Given the description of an element on the screen output the (x, y) to click on. 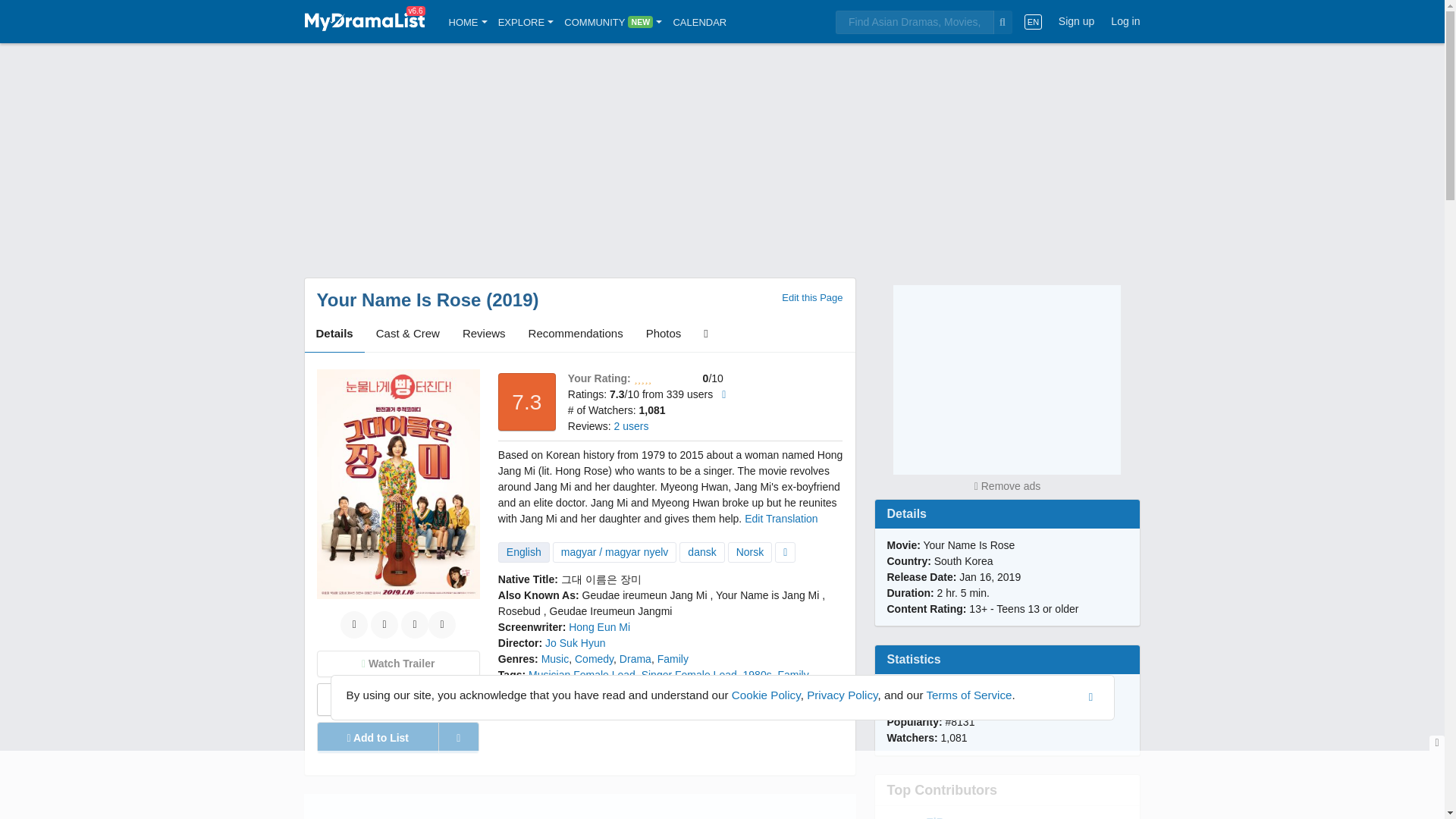
Your Name Is Rose (399, 299)
HOME (467, 21)
Geudae Ireumeun Jangmi (611, 611)
Your Name is Jang Mi (767, 594)
Rosebud (518, 611)
Geudae ireumeun Jang Mi (644, 594)
v6.6 (364, 21)
